Given the description of an element on the screen output the (x, y) to click on. 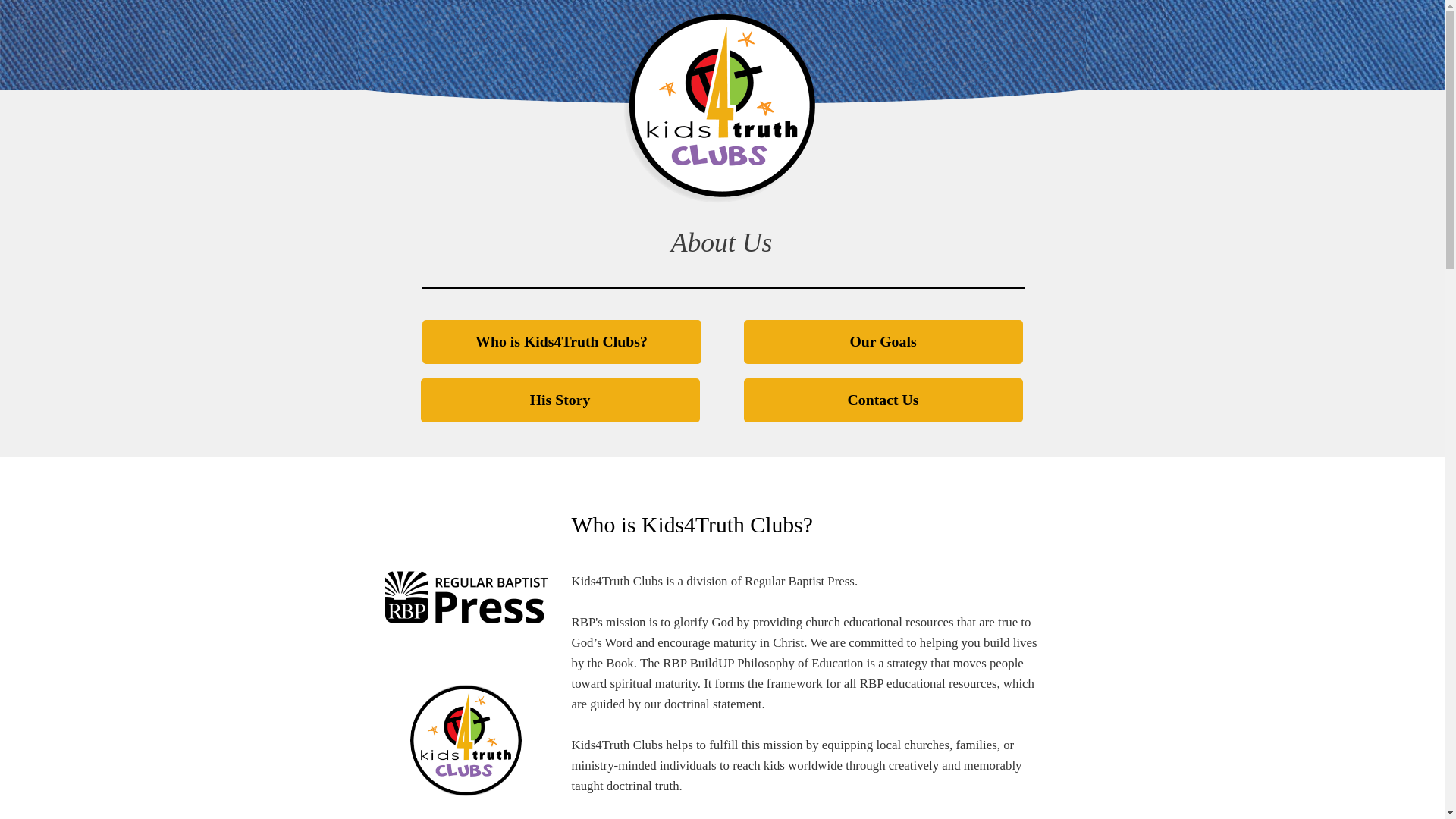
Contact Us (882, 400)
His Story (559, 400)
our doctrinal statement (702, 703)
Our Goals (882, 341)
BuildUP Philosophy of Education (776, 663)
Regular Baptist Press (799, 581)
Who is Kids4Truth Clubs? (561, 341)
